Given the description of an element on the screen output the (x, y) to click on. 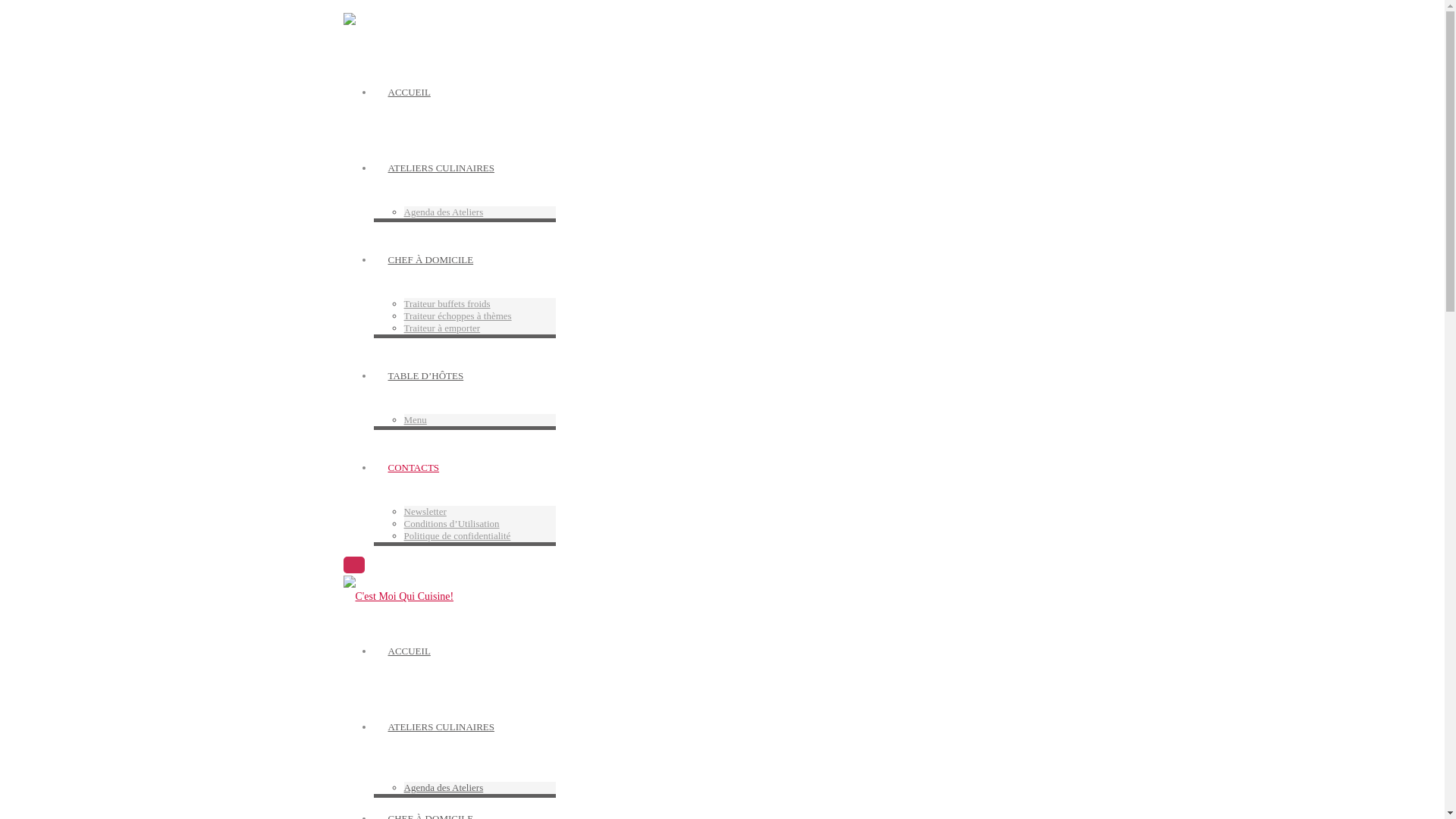
Agenda des Ateliers Element type: text (443, 787)
ACCUEIL Element type: text (408, 91)
ATELIERS CULINAIRES Element type: text (440, 167)
Agenda des Ateliers Element type: text (443, 211)
ACCUEIL Element type: text (737, 668)
Traiteur buffets froids Element type: text (446, 303)
ATELIERS CULINAIRES Element type: text (737, 743)
Newsletter Element type: text (424, 511)
Menu Element type: text (414, 419)
CONTACTS Element type: text (413, 467)
